Given the description of an element on the screen output the (x, y) to click on. 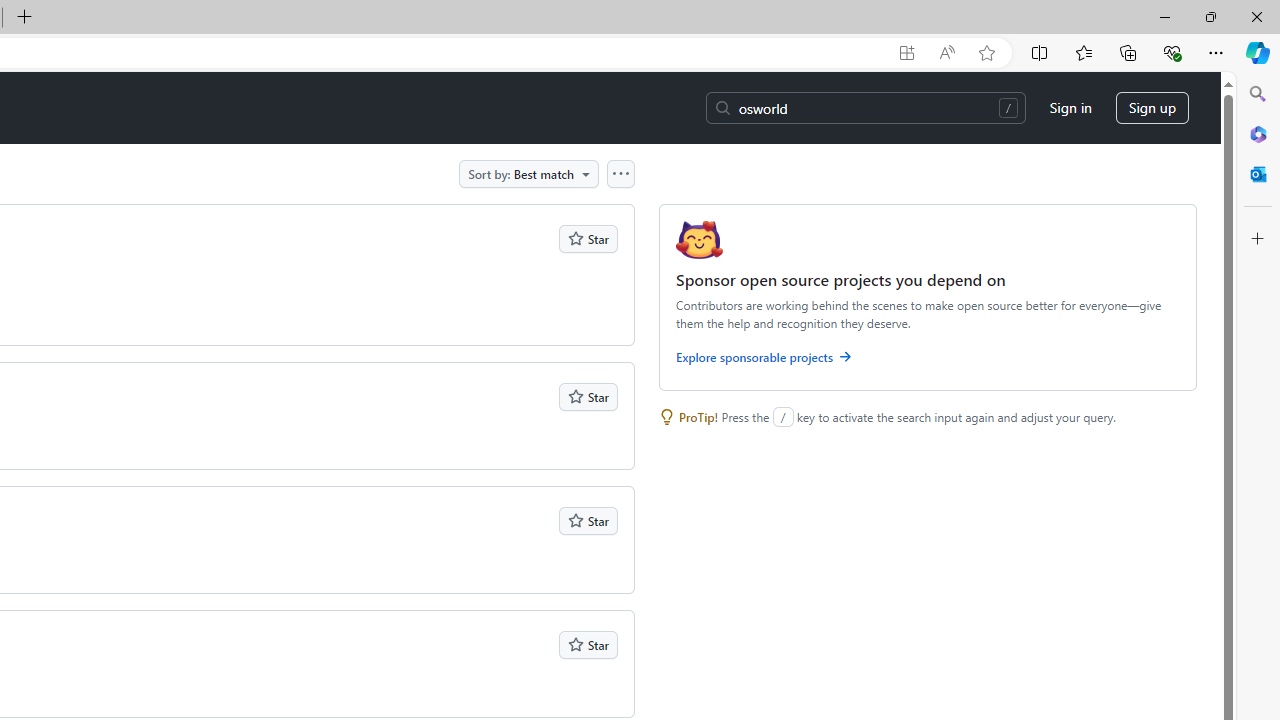
Close (1256, 16)
Close Outlook pane (1258, 174)
Sort by: Best match (529, 173)
Customize (1258, 239)
Settings and more (Alt+F) (1215, 52)
Package icon (699, 240)
Copilot (Ctrl+Shift+.) (1258, 52)
Split screen (1039, 52)
Add this page to favorites (Ctrl+D) (986, 53)
